Given the description of an element on the screen output the (x, y) to click on. 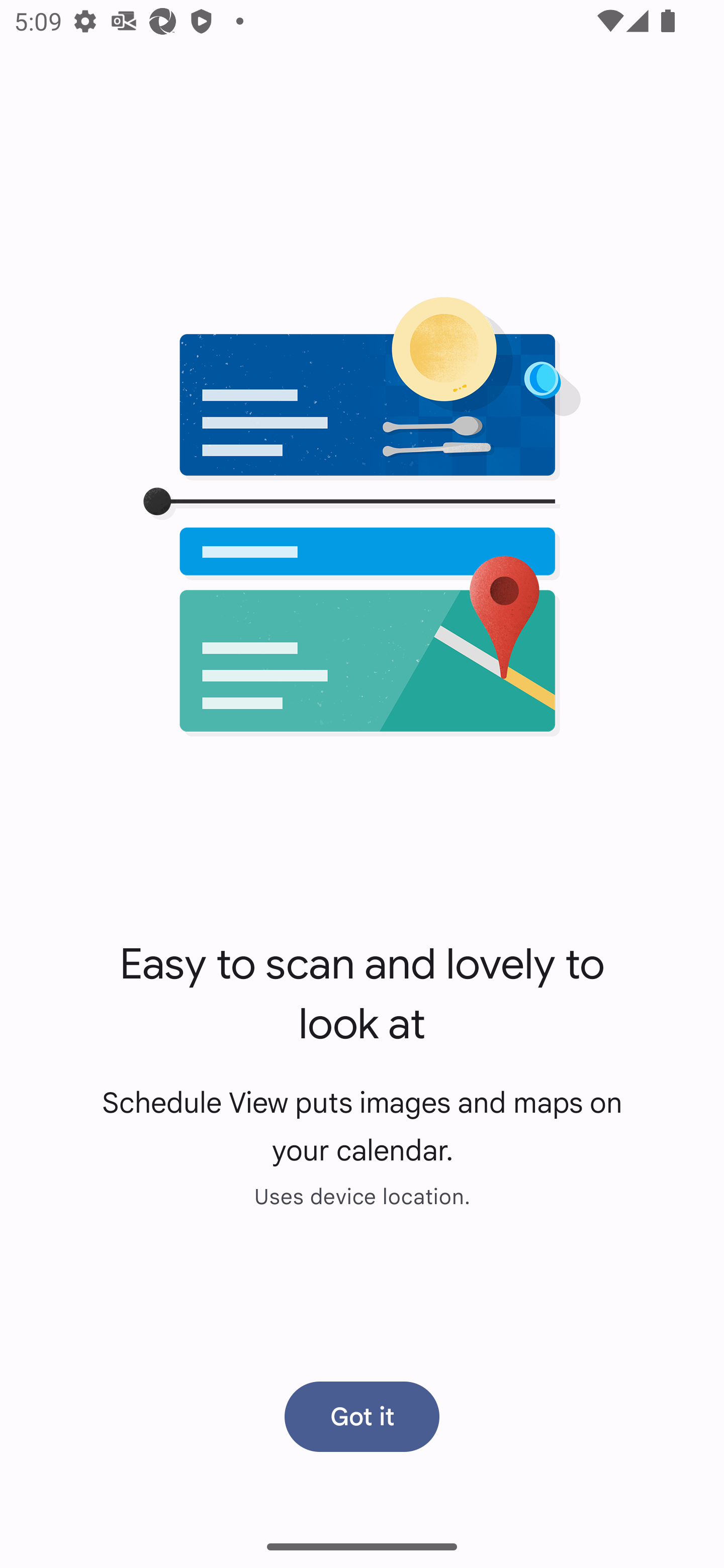
Got it (361, 1416)
